Given the description of an element on the screen output the (x, y) to click on. 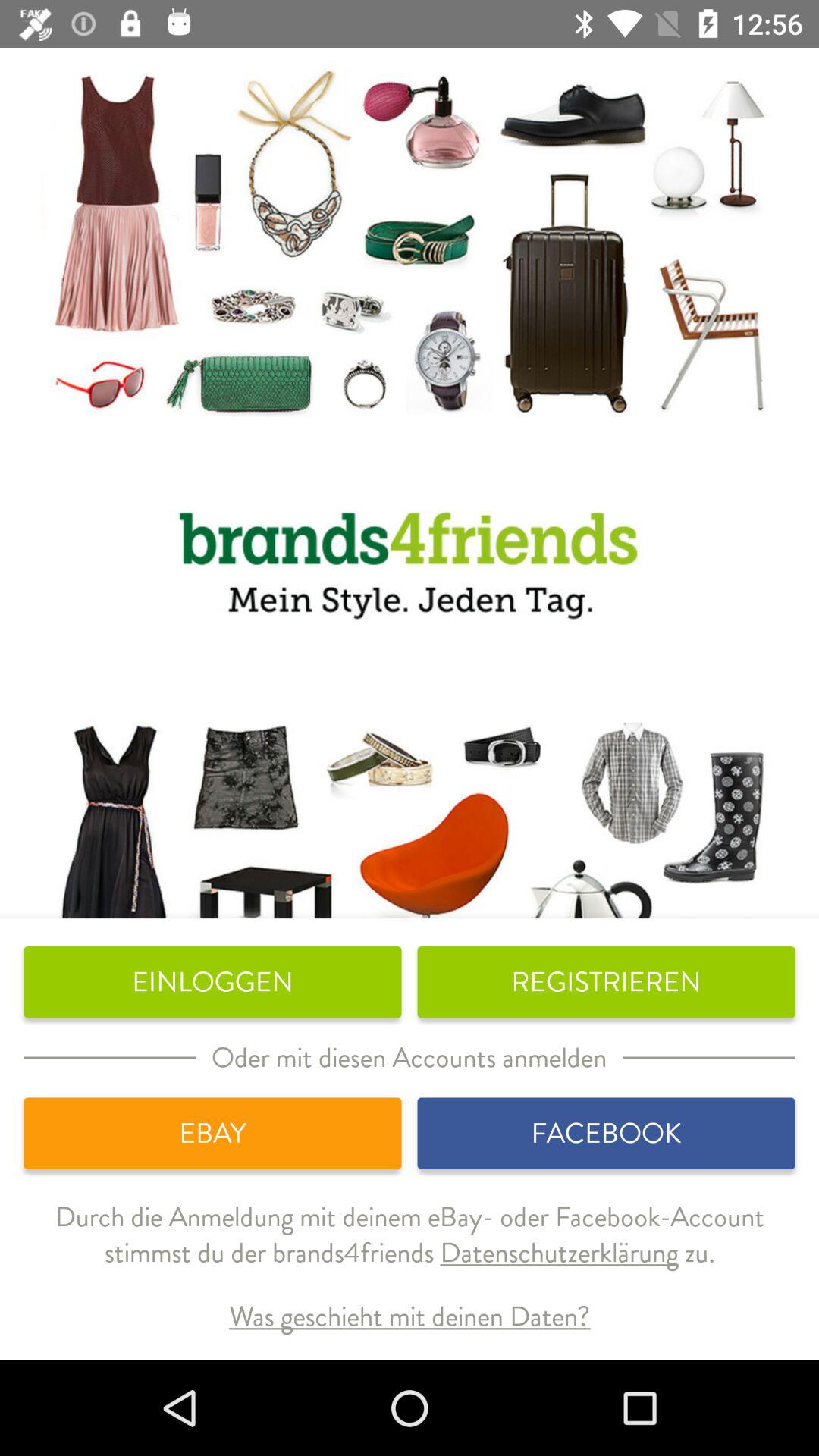
choose item above the oder mit diesen (606, 982)
